Given the description of an element on the screen output the (x, y) to click on. 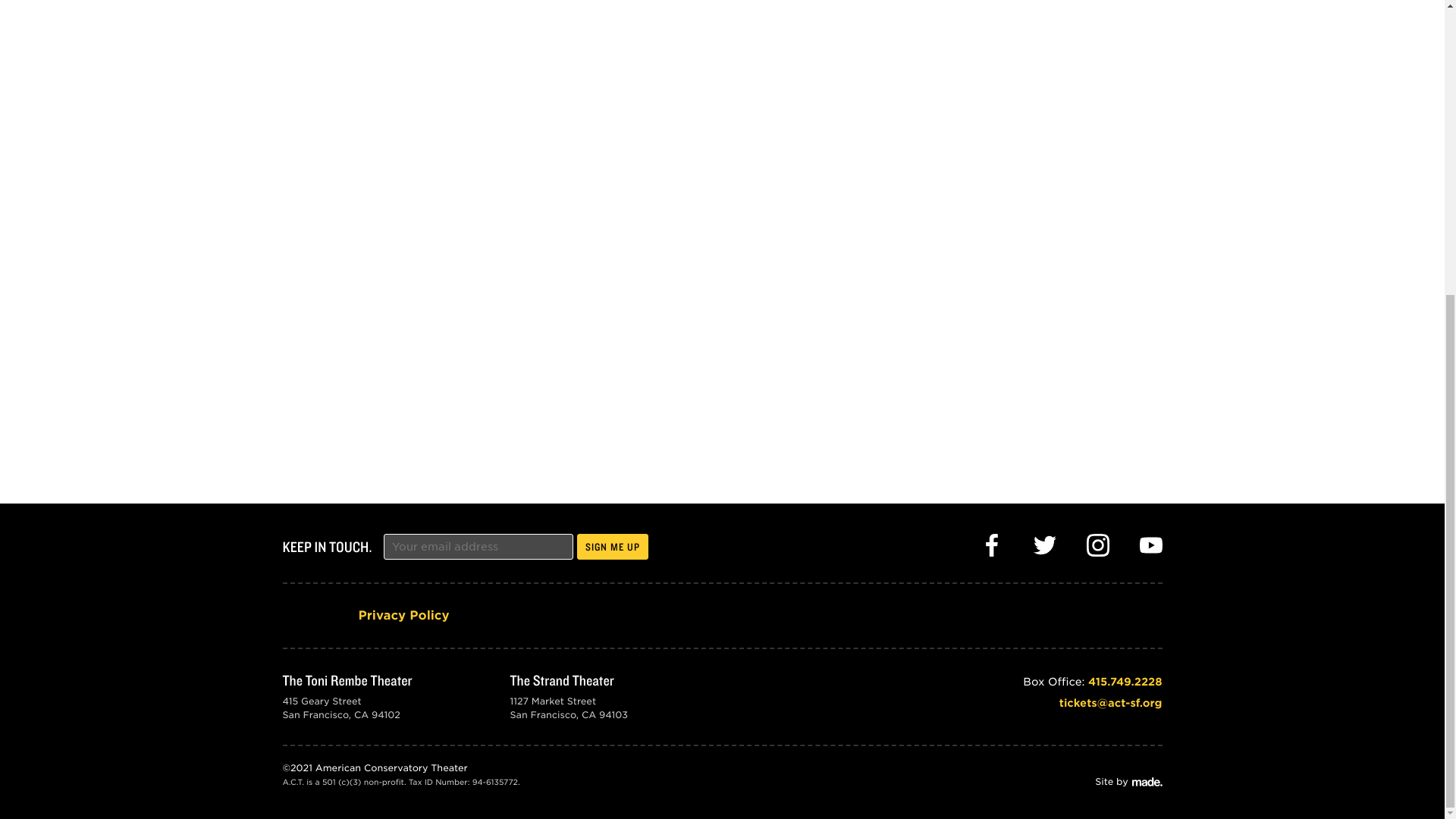
California (360, 714)
California (587, 714)
Sign me up (611, 546)
